Given the description of an element on the screen output the (x, y) to click on. 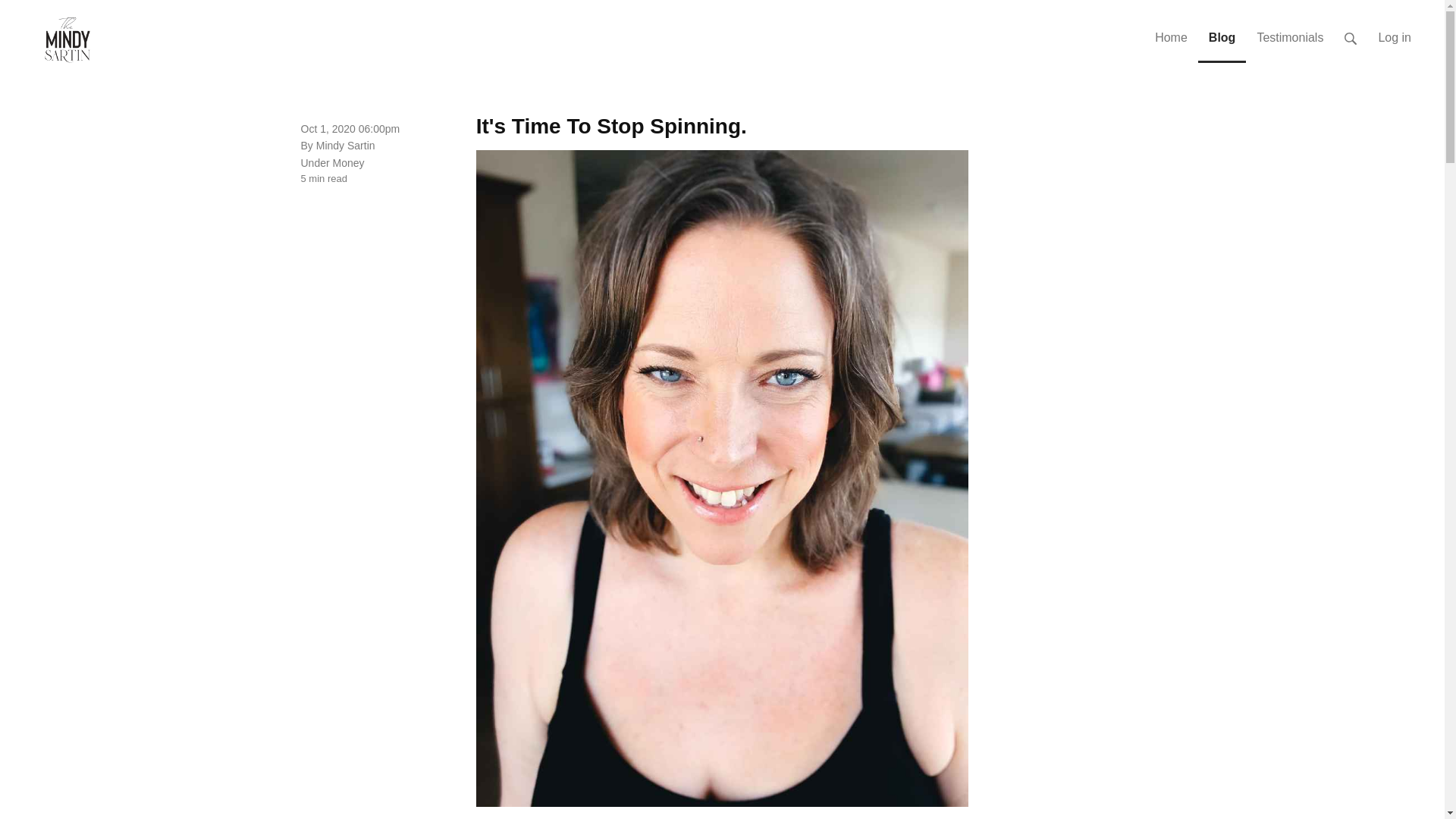
Testimonials (1289, 31)
Money (349, 162)
